Given the description of an element on the screen output the (x, y) to click on. 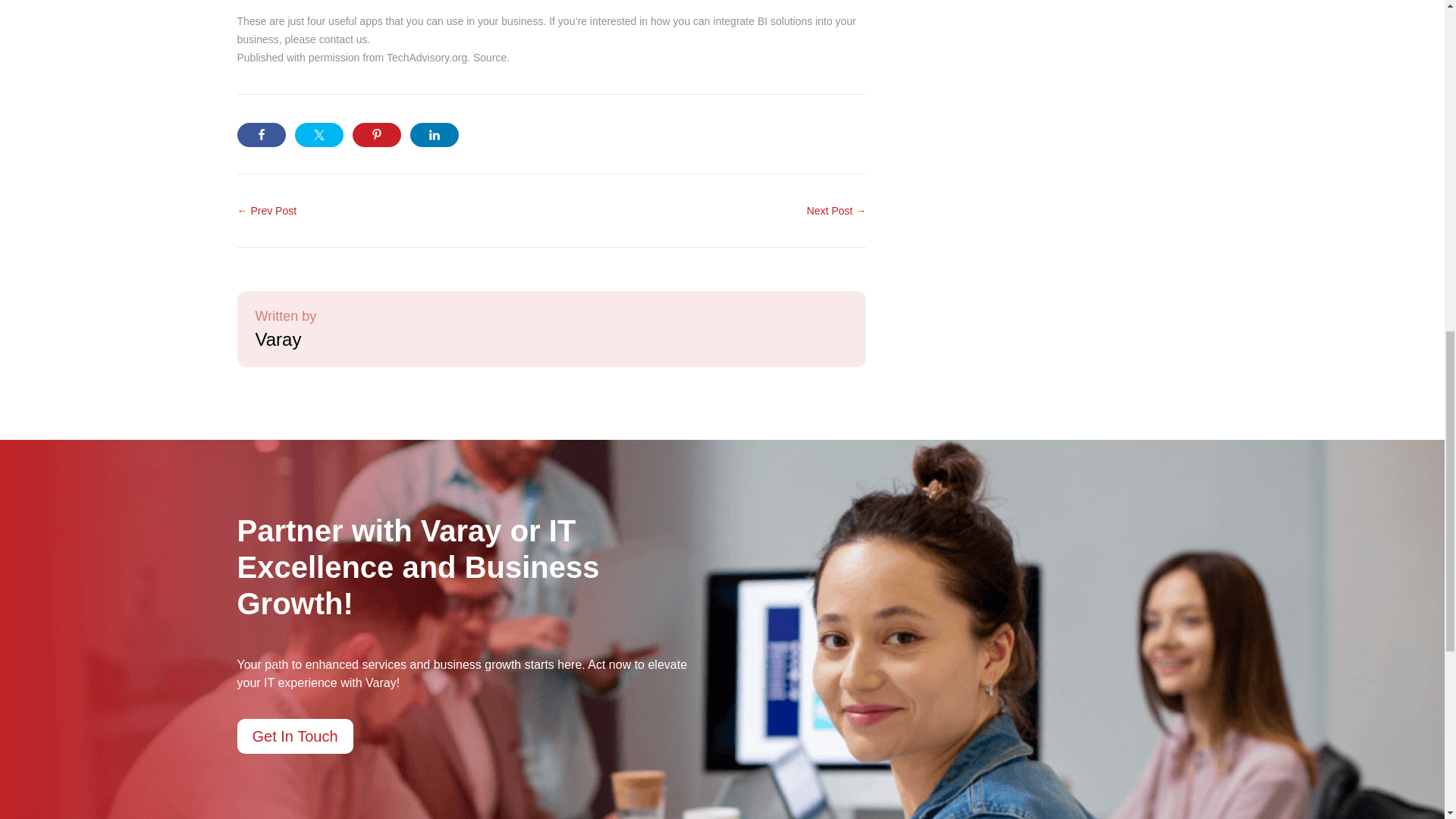
Share on LinkedIn (433, 134)
Share on Twitter (318, 134)
Share on Facebook (260, 134)
Share on Pinterest (376, 134)
